Given the description of an element on the screen output the (x, y) to click on. 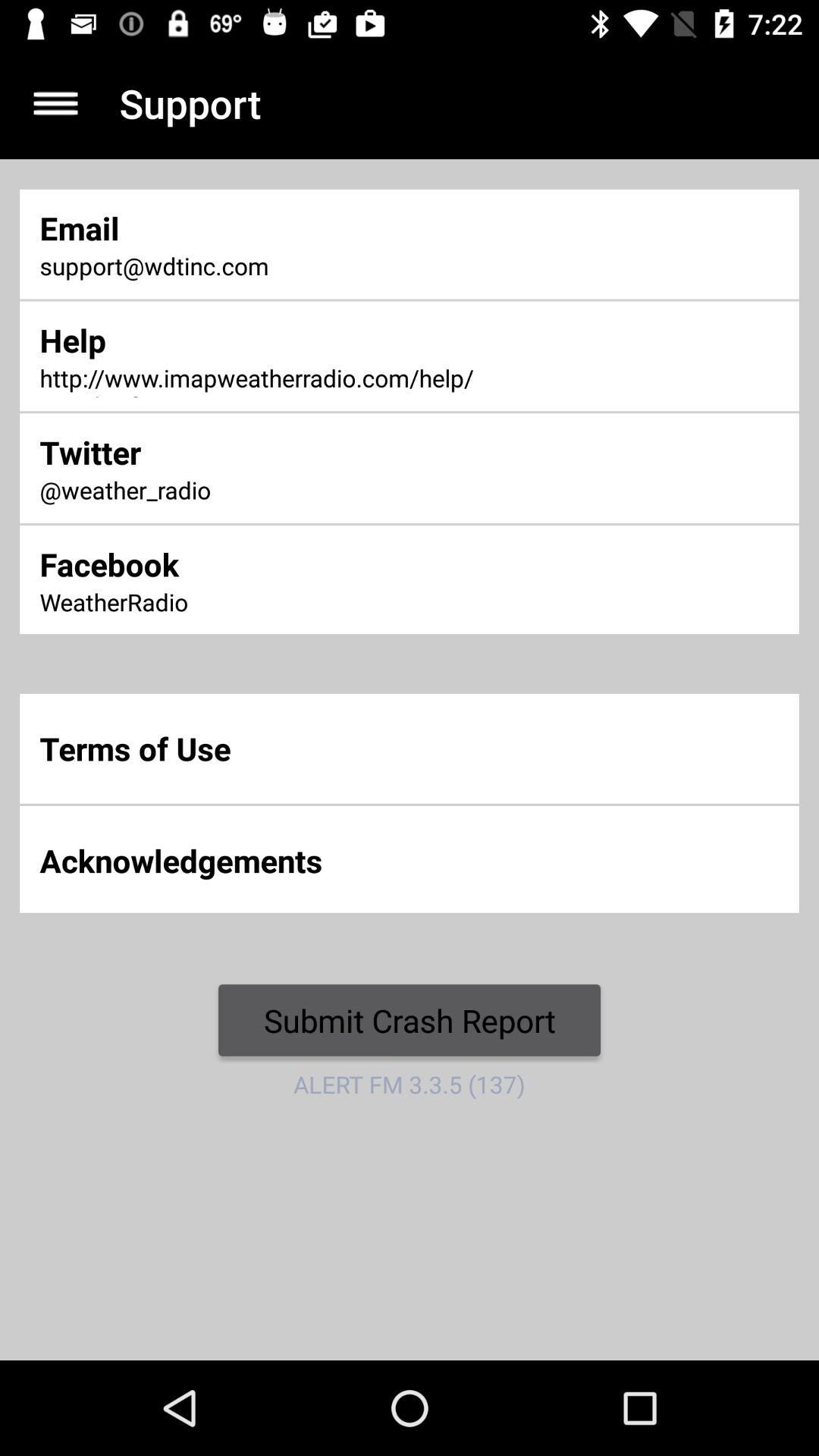
return to options (55, 103)
